Given the description of an element on the screen output the (x, y) to click on. 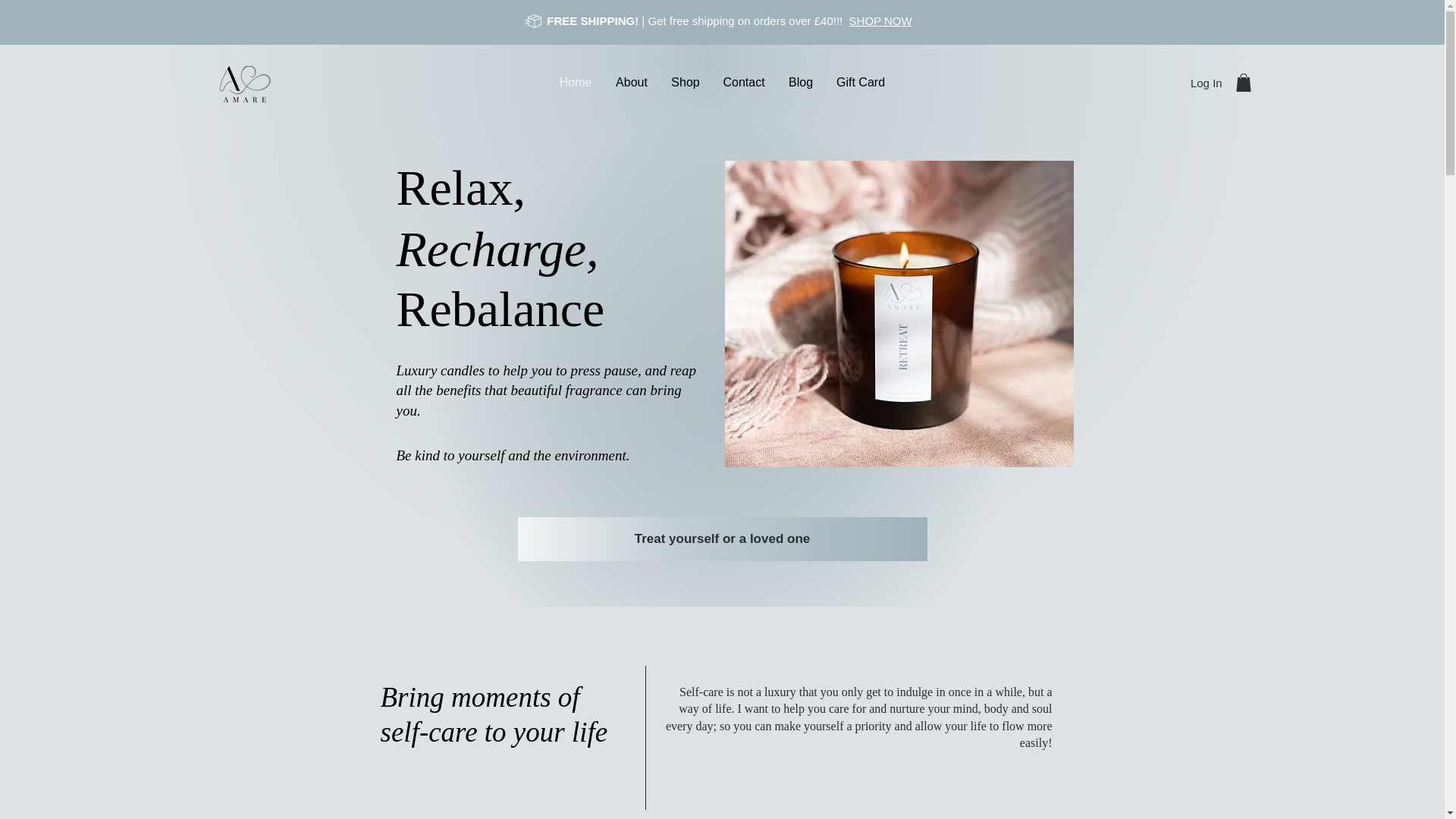
Shop (685, 82)
Contact (743, 82)
Log In (1206, 82)
Treat yourself or a loved one (721, 538)
About (631, 82)
Home (575, 82)
Blog (800, 82)
Gift Card (860, 82)
SHOP NOW (880, 20)
